Given the description of an element on the screen output the (x, y) to click on. 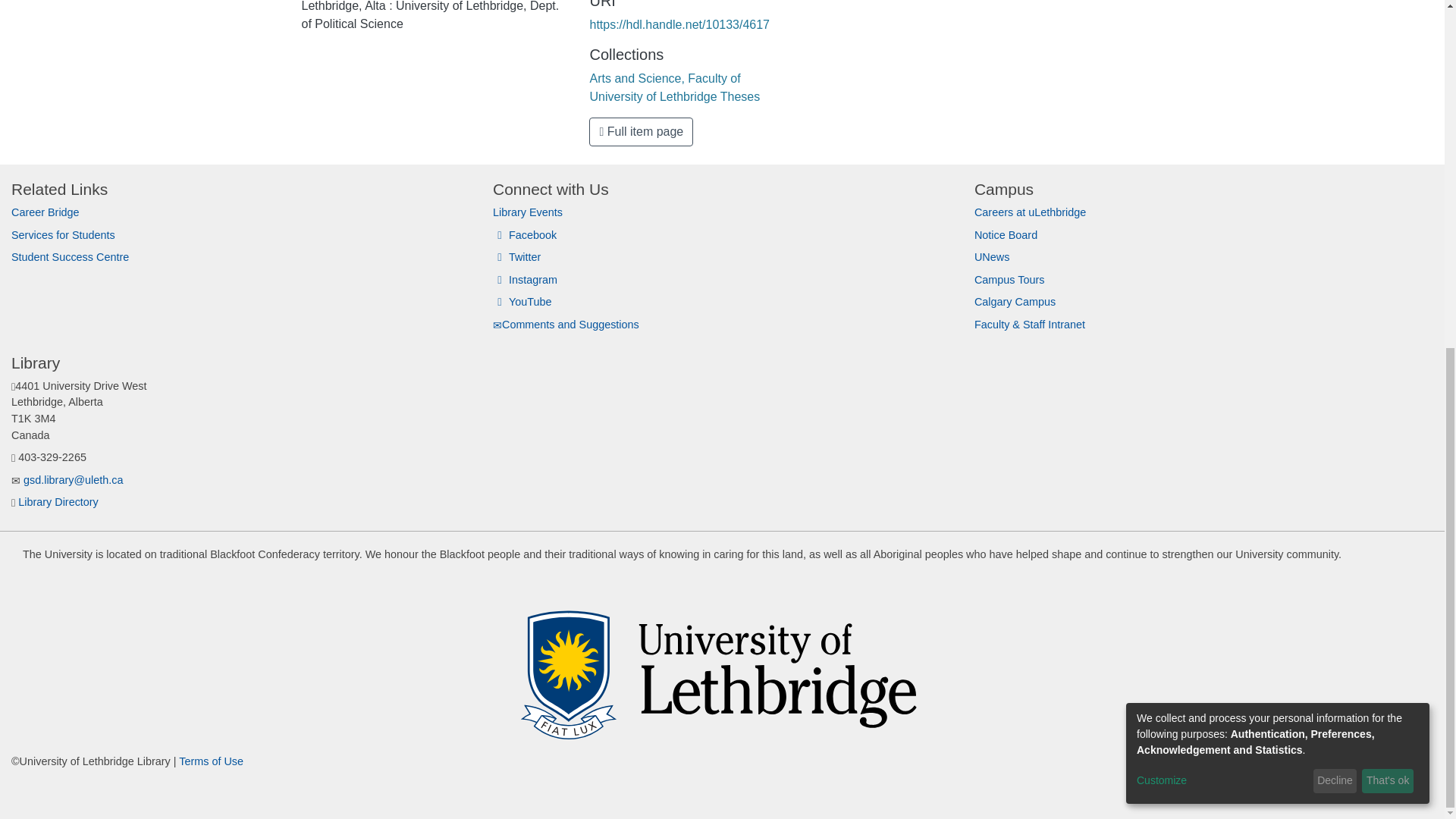
Full item page (641, 131)
Career Bridge (45, 212)
Student Success Centre (70, 256)
University of Lethbridge Theses (674, 96)
Instagram (525, 279)
Instagram Link (1352, 783)
Careers at uLethbridge (1030, 212)
Campus Tours (1009, 279)
Notice Board (1005, 234)
Twitter (516, 256)
Arts and Science, Faculty of (664, 78)
Facebook Link (1296, 783)
UNews (991, 256)
Facebook (524, 234)
The University of Lethbridge (721, 665)
